Given the description of an element on the screen output the (x, y) to click on. 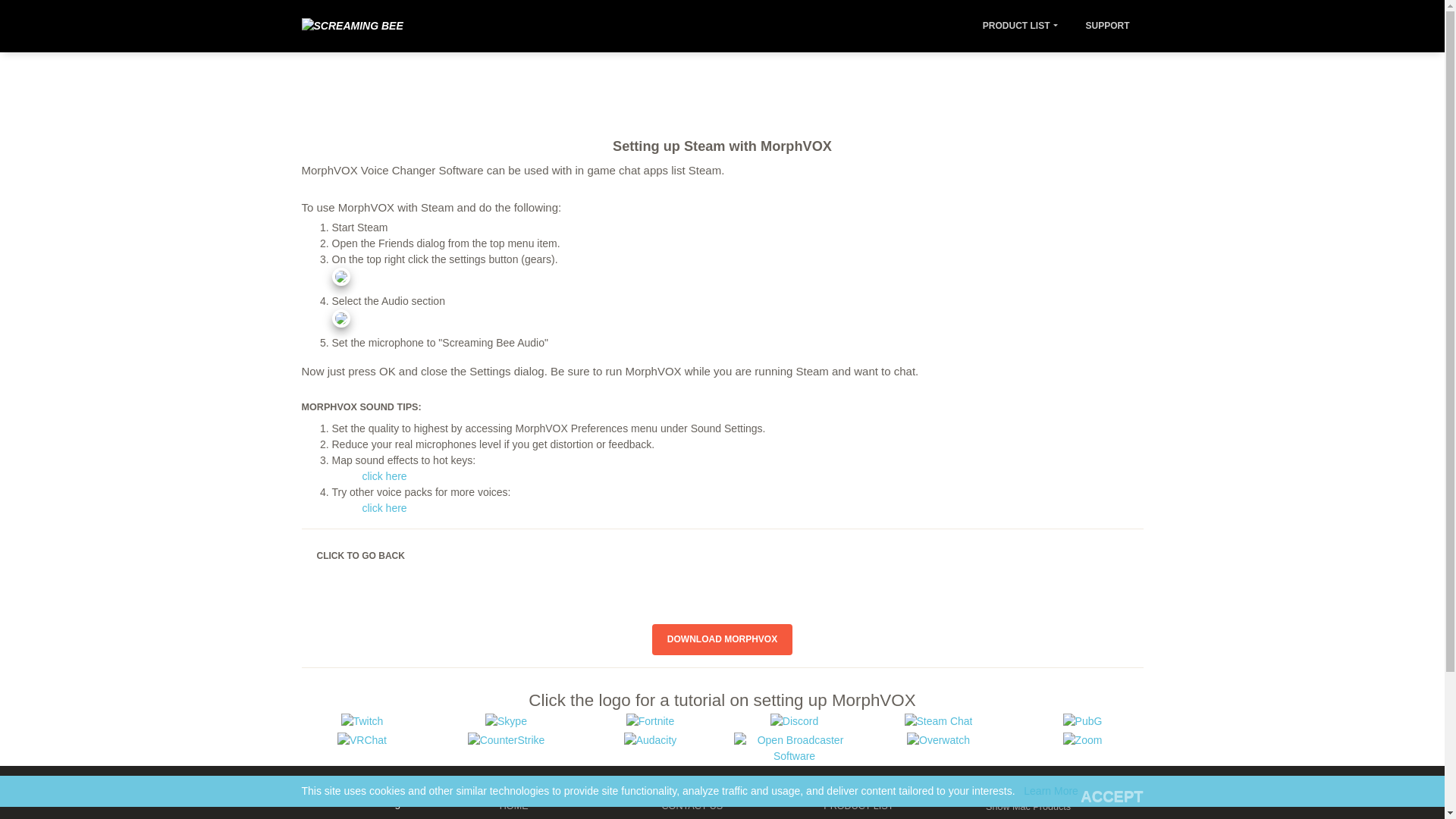
HOME (522, 805)
PRODUCT LIST (1020, 25)
SUPPORT (522, 818)
click here (736, 483)
PRODUCT LIST (864, 805)
Learn More (1050, 790)
CLICK TO GO BACK (360, 555)
Show Mac Products (1027, 806)
SUPPORT (1107, 25)
Screaming Bee (352, 26)
